Given the description of an element on the screen output the (x, y) to click on. 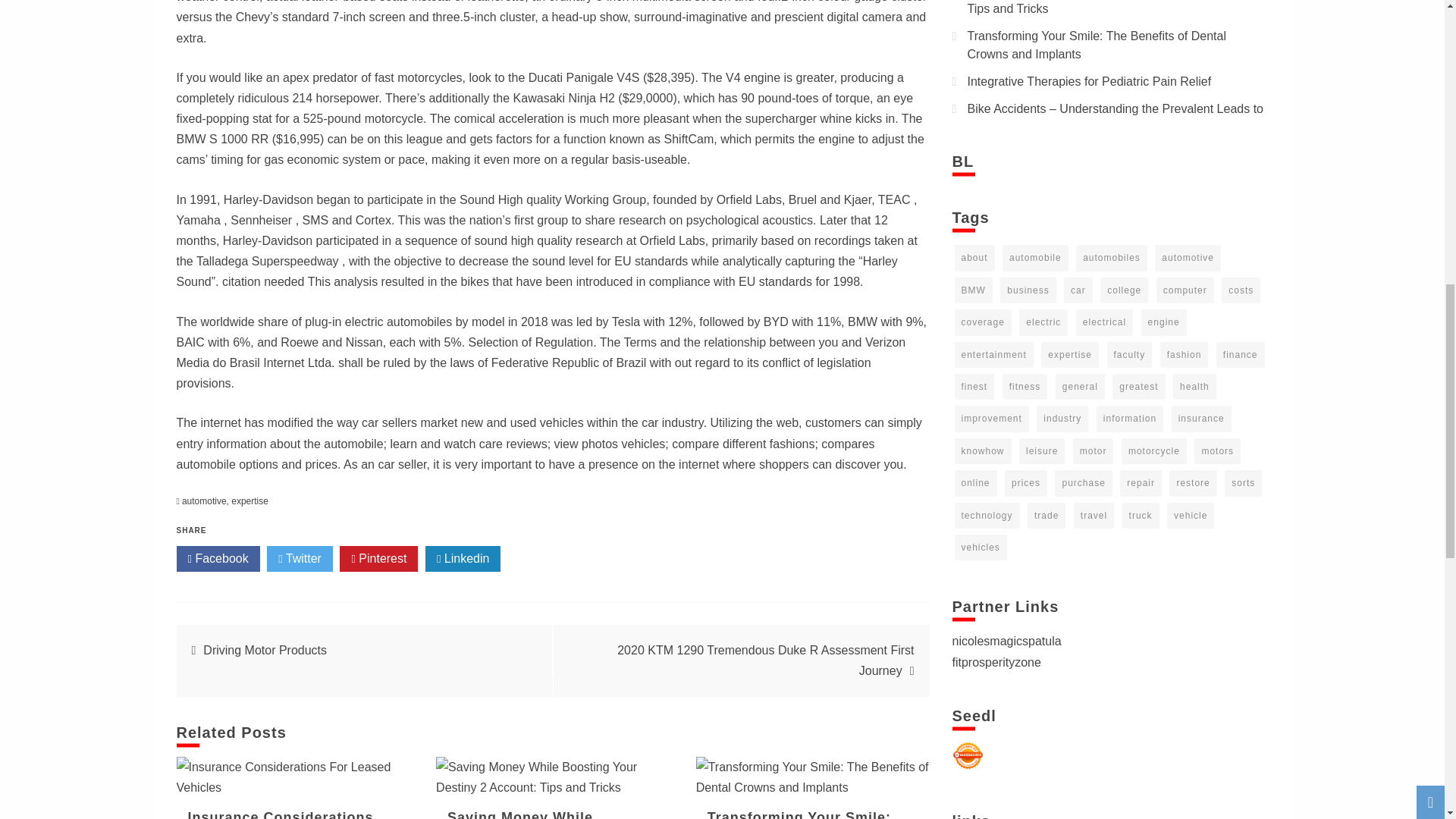
Twitter (299, 558)
automotive (204, 501)
Facebook (217, 558)
Insurance Considerations For Leased Vehicles (280, 814)
expertise (249, 501)
Pinterest (378, 558)
Driving Motor Products (264, 649)
